Given the description of an element on the screen output the (x, y) to click on. 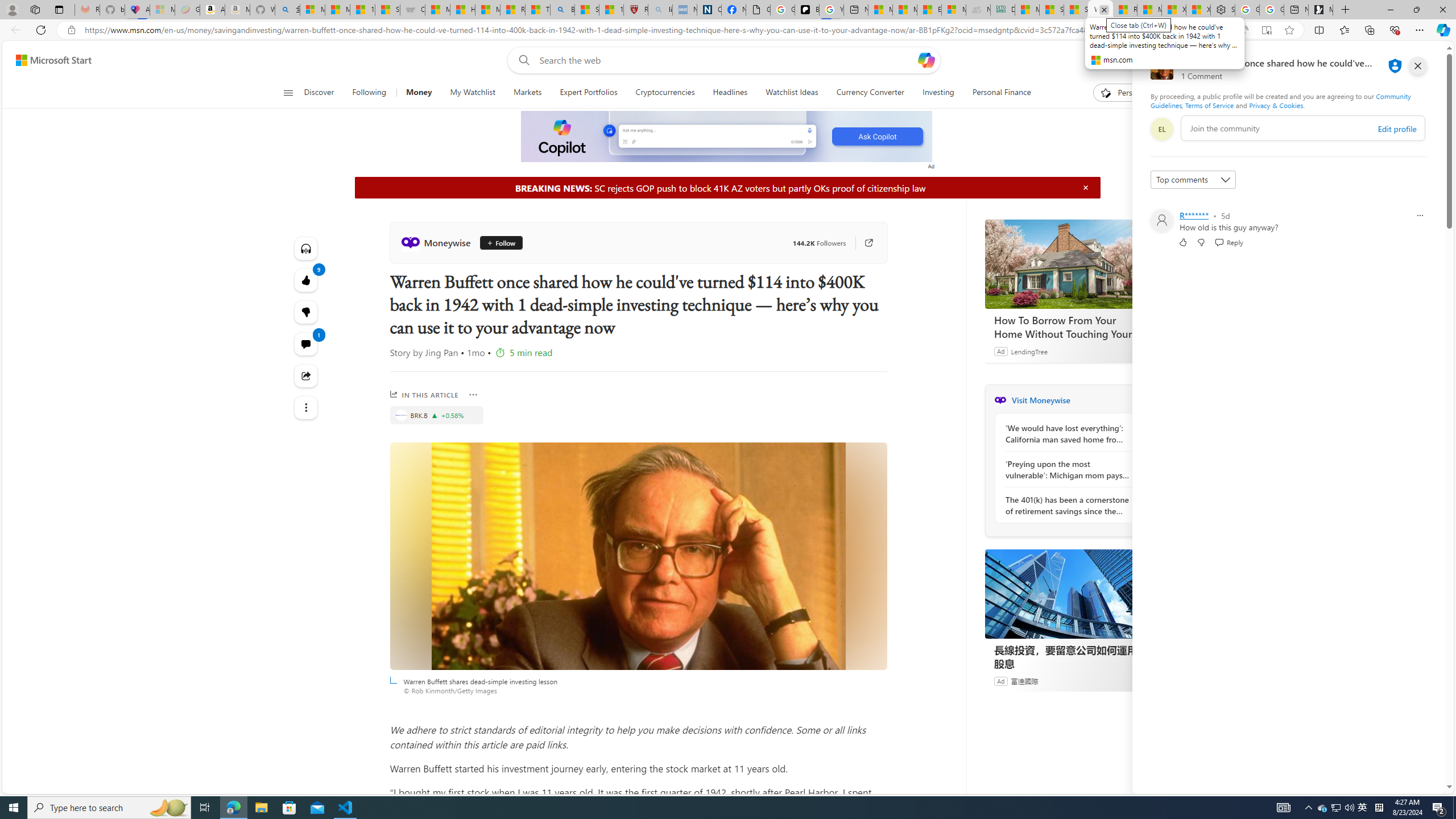
Headlines (729, 92)
Cryptocurrencies (664, 92)
Profile Picture (1161, 220)
Headlines (730, 92)
Markets (527, 92)
Terms of Service (1209, 104)
